Given the description of an element on the screen output the (x, y) to click on. 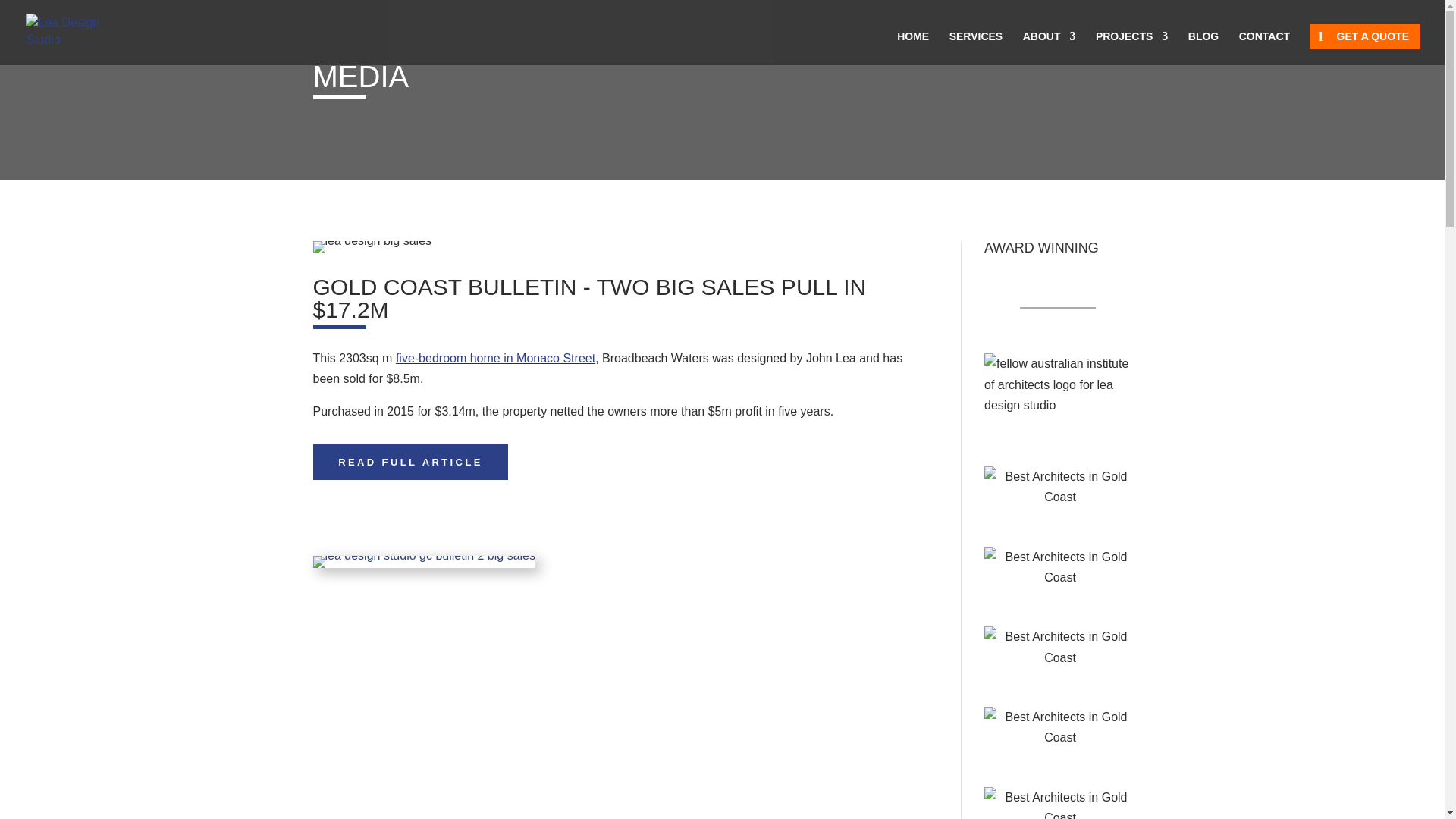
five-bedroom home in Monaco Street Element type: text (495, 357)
lea-design-studio-gc-bulletin-2-big-sales-article (1) Element type: hover (423, 561)
lea-design-studio-gc-bulletin-2-big-sales-article Element type: hover (371, 247)
SERVICES Element type: text (976, 48)
lea design studio gc bulletin 2 big sales Element type: hover (423, 567)
BLOG Element type: text (1203, 48)
CONTACT Element type: text (1264, 48)
HOME Element type: text (912, 48)
ABOUT Element type: text (1049, 48)
READ FULL ARTICLE Element type: text (410, 462)
GET A QUOTE Element type: text (1365, 36)
PROJECTS Element type: text (1131, 48)
